Given the description of an element on the screen output the (x, y) to click on. 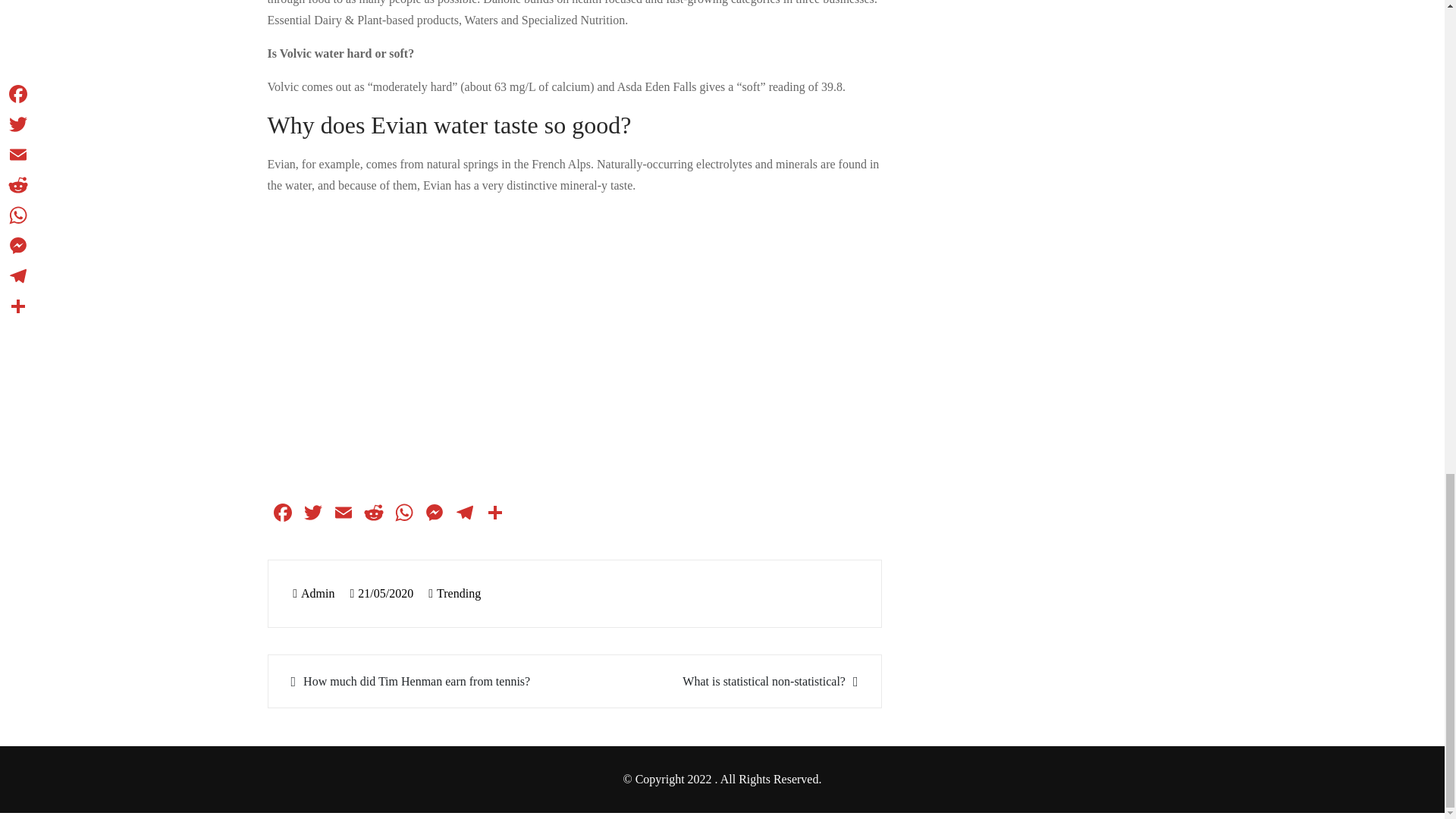
Admin (313, 593)
Volvic Sparkling Touch Of Fruit REAL REVIEW (509, 344)
Reddit (373, 514)
How much did Tim Henman earn from tennis? (423, 681)
Email (342, 514)
Messenger (433, 514)
WhatsApp (403, 514)
Telegram (463, 514)
Twitter (312, 514)
Telegram (463, 514)
